Given the description of an element on the screen output the (x, y) to click on. 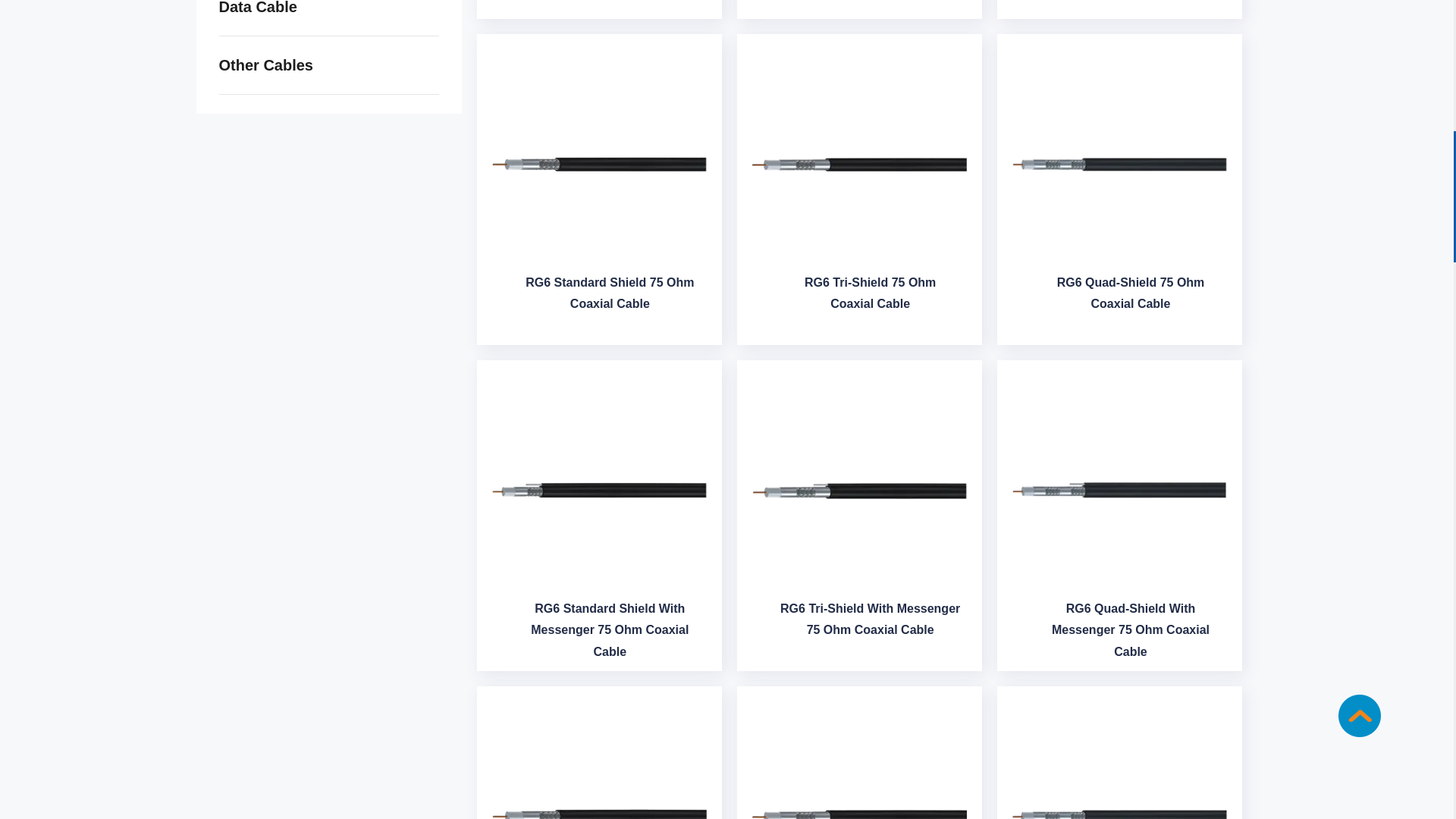
RG11 Standard Shield 75 Ohm Coaxial Cable (599, 764)
RG6 Tri-Shield With Messenger 75 Ohm Coaxial Cable (859, 490)
RG6 Standard Shield With Messenger 75 Ohm Coaxial Cable (609, 634)
RG6 Tri-Shield 75 Ohm (869, 297)
RG6 Standard Shield 75 Ohm Coaxial Cable (599, 163)
RG6 Quad-Shield With Messenger 75 Ohm Coaxial Cable (1130, 634)
RG6 Standard Shield With Messenger 75 Ohm Coaxial Cable (599, 490)
RG6 Standard Shield 75 Ohm Coaxial Cable (609, 297)
RG6 Quad-Shield 75 Ohm Coaxial Cable (1119, 163)
RG6 Tri-Shield With Messenger 75 Ohm Coaxial Cable (869, 624)
RG6 Tri-Shield 75 Ohm (859, 163)
RG6 Quad-Shield 75 Ohm Coaxial Cable (1130, 297)
RG6 Quad-Shield With Messenger 75 Ohm Coaxial Cable (1119, 490)
